Given the description of an element on the screen output the (x, y) to click on. 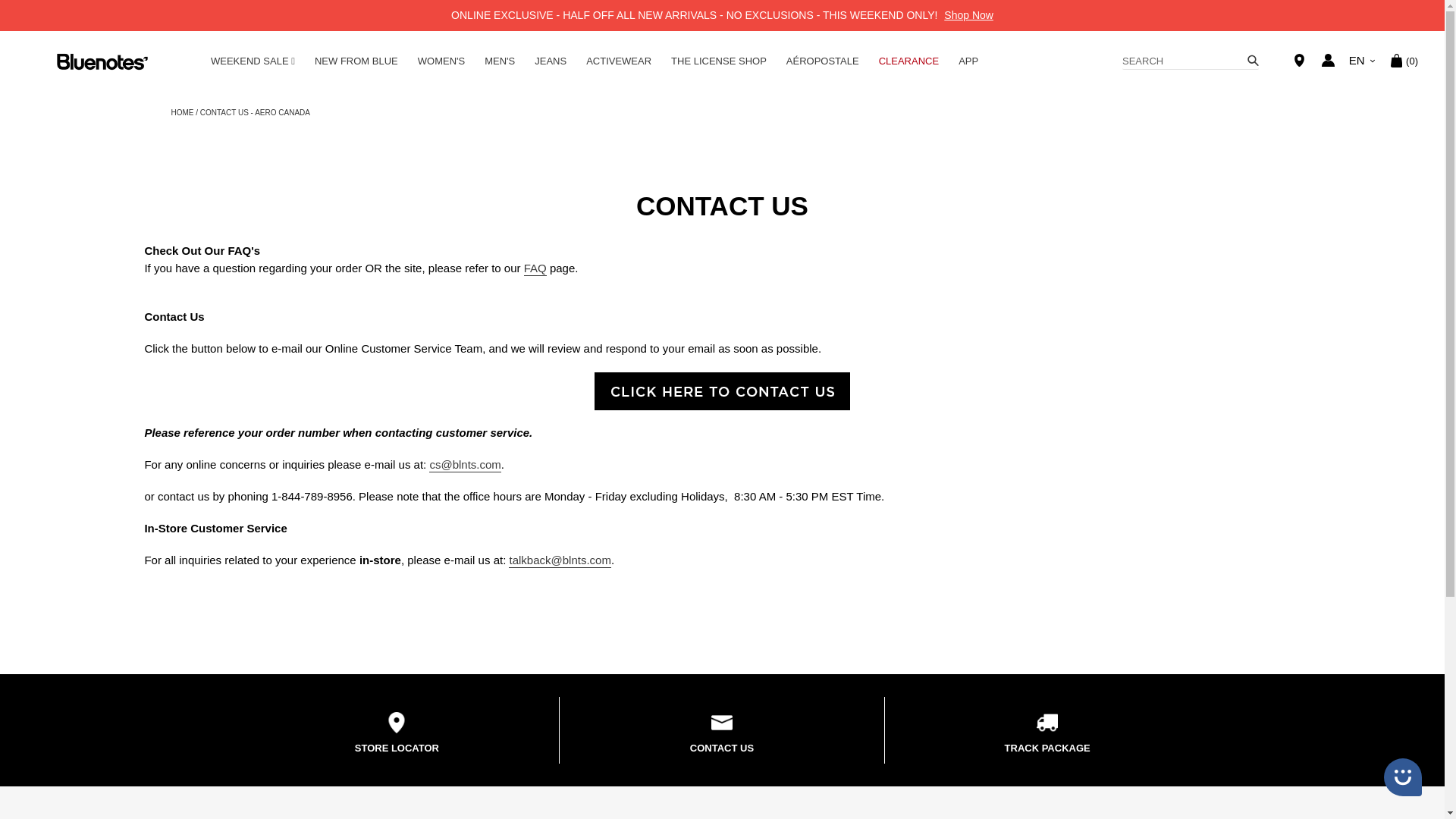
Shop Now (967, 15)
WOMEN'S (440, 60)
NEW FROM BLUE (356, 60)
Contact Bluenotes Online Customer Support Team (722, 391)
Home (181, 111)
Search (1190, 62)
